Given the description of an element on the screen output the (x, y) to click on. 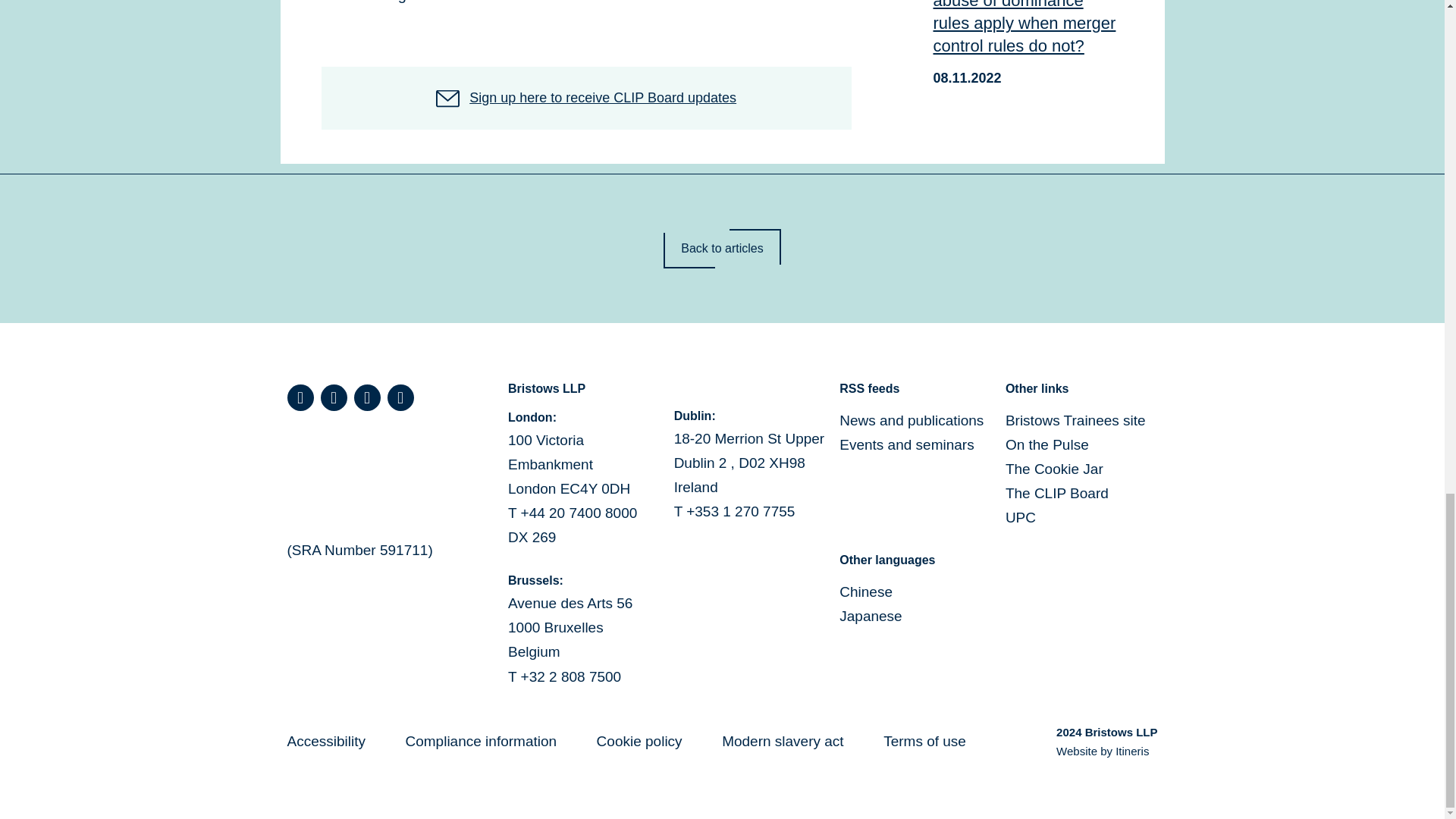
Solicitors Regulation Authority (365, 476)
